Given the description of an element on the screen output the (x, y) to click on. 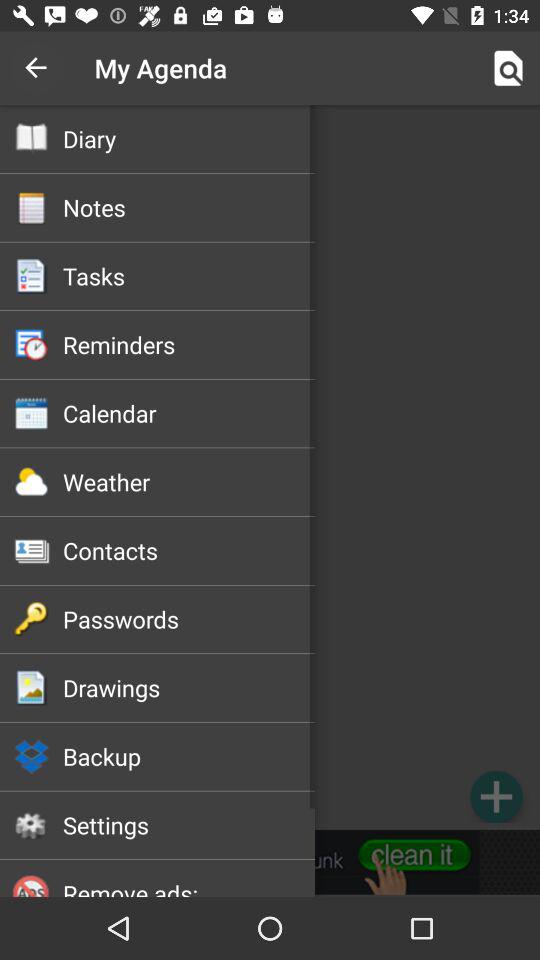
open settings icon (188, 825)
